Given the description of an element on the screen output the (x, y) to click on. 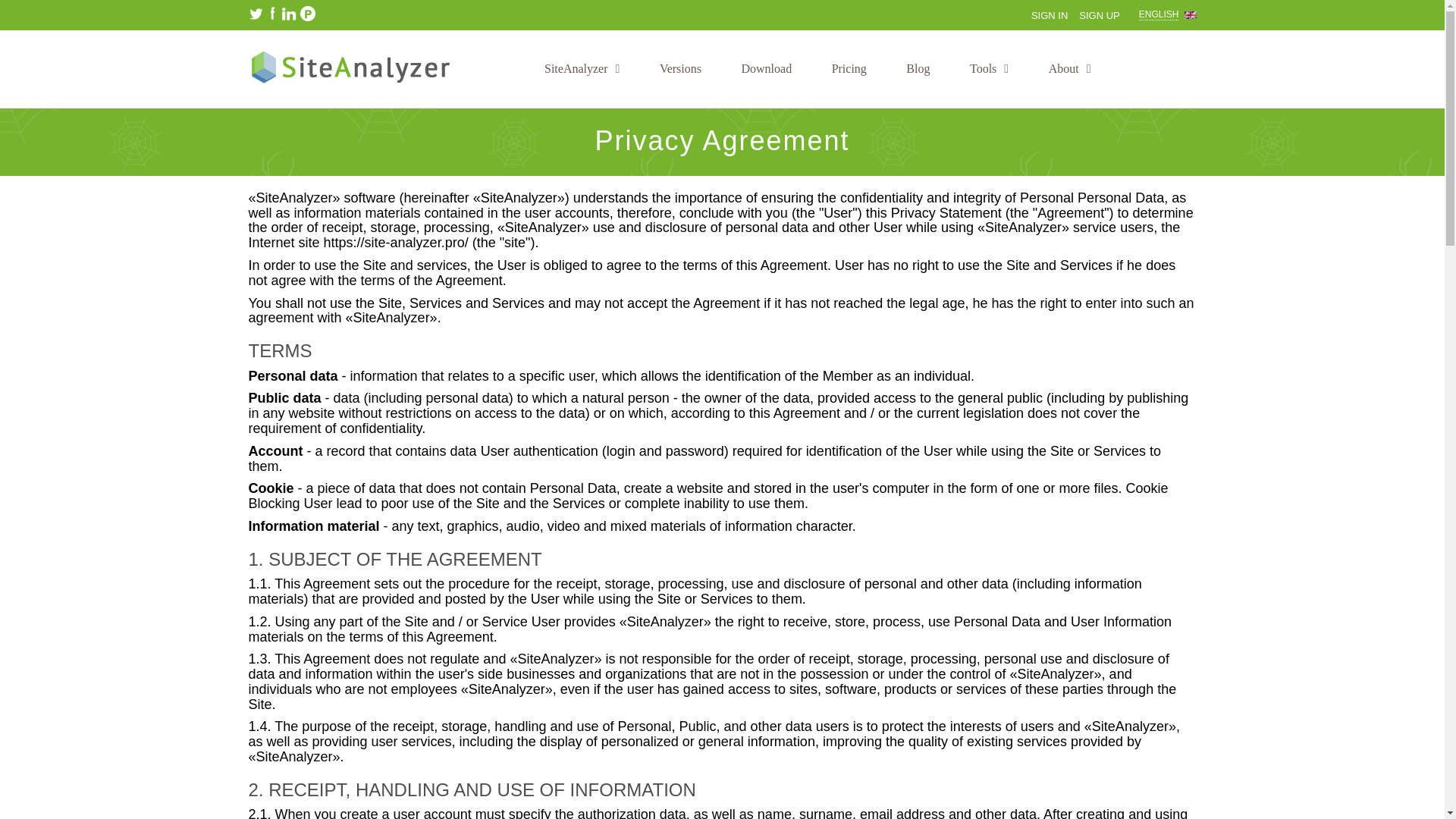
Download (766, 68)
Select your language (1167, 14)
Versions (680, 68)
Product Hunt (307, 13)
Twitter (255, 13)
Pricing (848, 68)
Linkedin (289, 13)
SIGN UP (1098, 15)
SiteAnalyzer (582, 68)
